Given the description of an element on the screen output the (x, y) to click on. 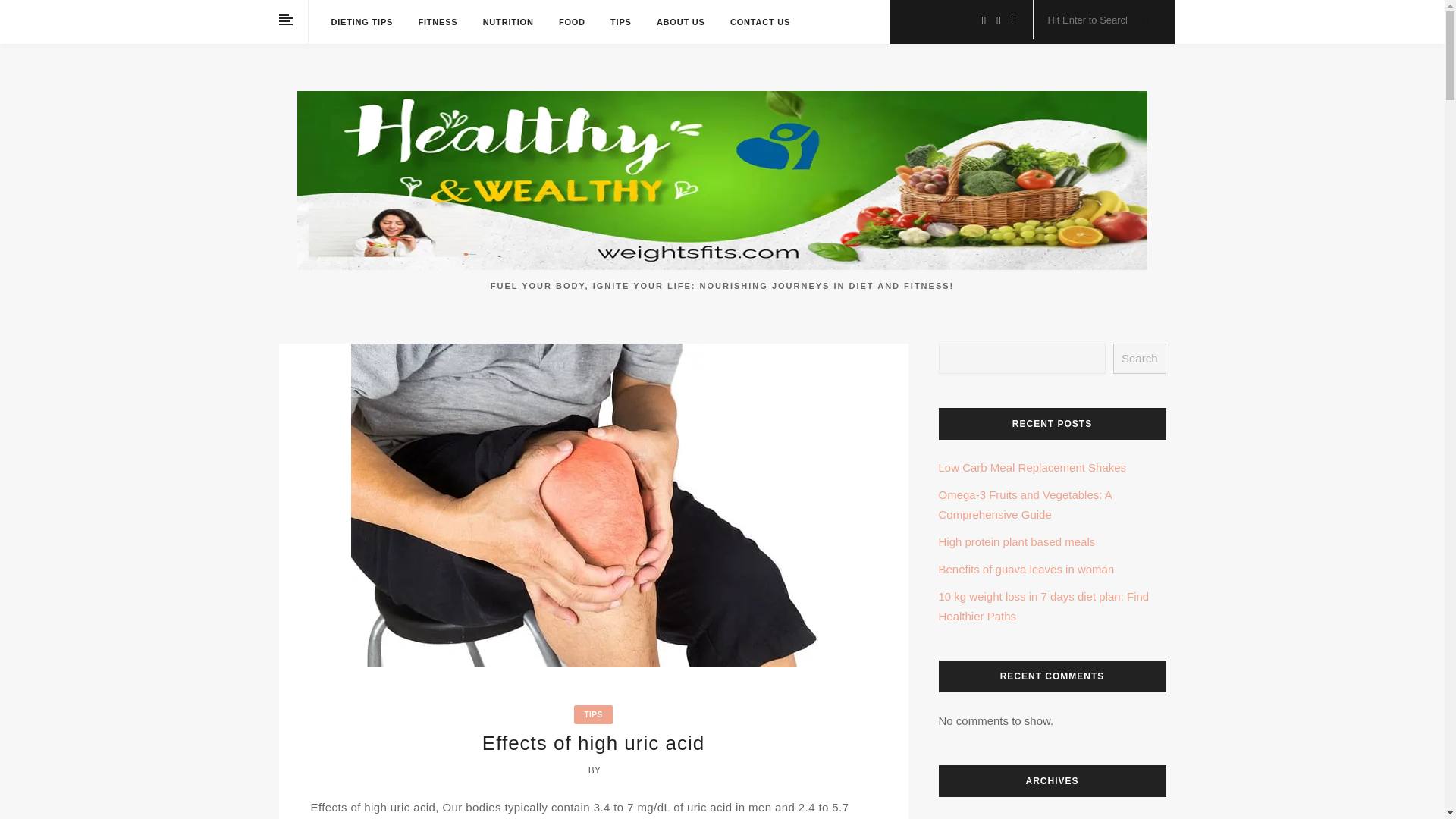
Hit Enter to Search (1092, 20)
ABOUT US (680, 21)
TIPS (620, 21)
FOOD (572, 21)
NUTRITION (508, 21)
FITNESS (437, 21)
DIETING TIPS (361, 21)
CONTACT US (760, 21)
TIPS (592, 714)
Hit Enter to Search (1092, 20)
